Given the description of an element on the screen output the (x, y) to click on. 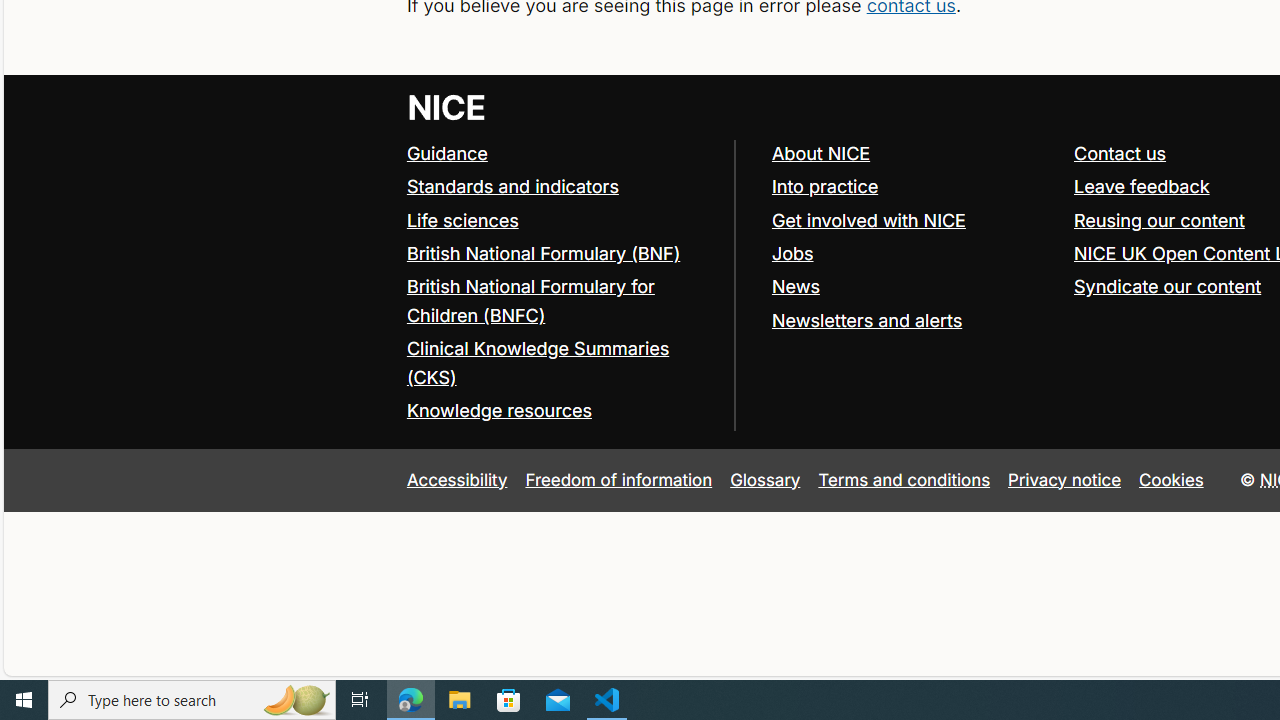
Cookies (1171, 479)
Jobs (913, 254)
Reusing our content (1159, 219)
Glossary (765, 479)
About NICE (913, 153)
Cookies (1171, 479)
Leave feedback (1141, 186)
Get involved with NICE (913, 220)
Freedom of information (618, 479)
Get involved with NICE (868, 219)
Glossary (765, 479)
Go to NICE home page (445, 106)
